Given the description of an element on the screen output the (x, y) to click on. 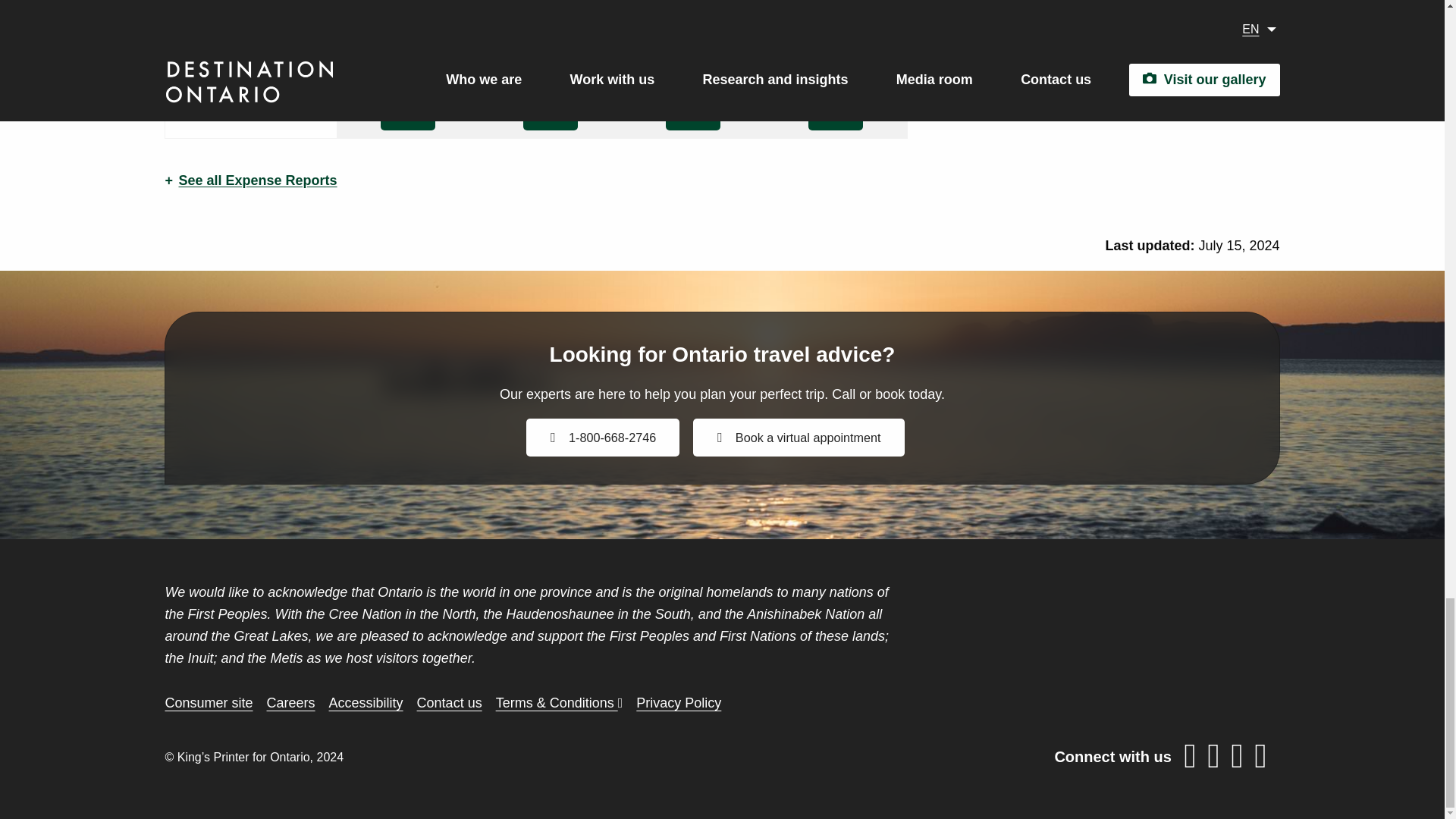
Twitter (1213, 760)
Instagram (1260, 760)
Pinterest (1236, 760)
Facebook (1190, 760)
